Given the description of an element on the screen output the (x, y) to click on. 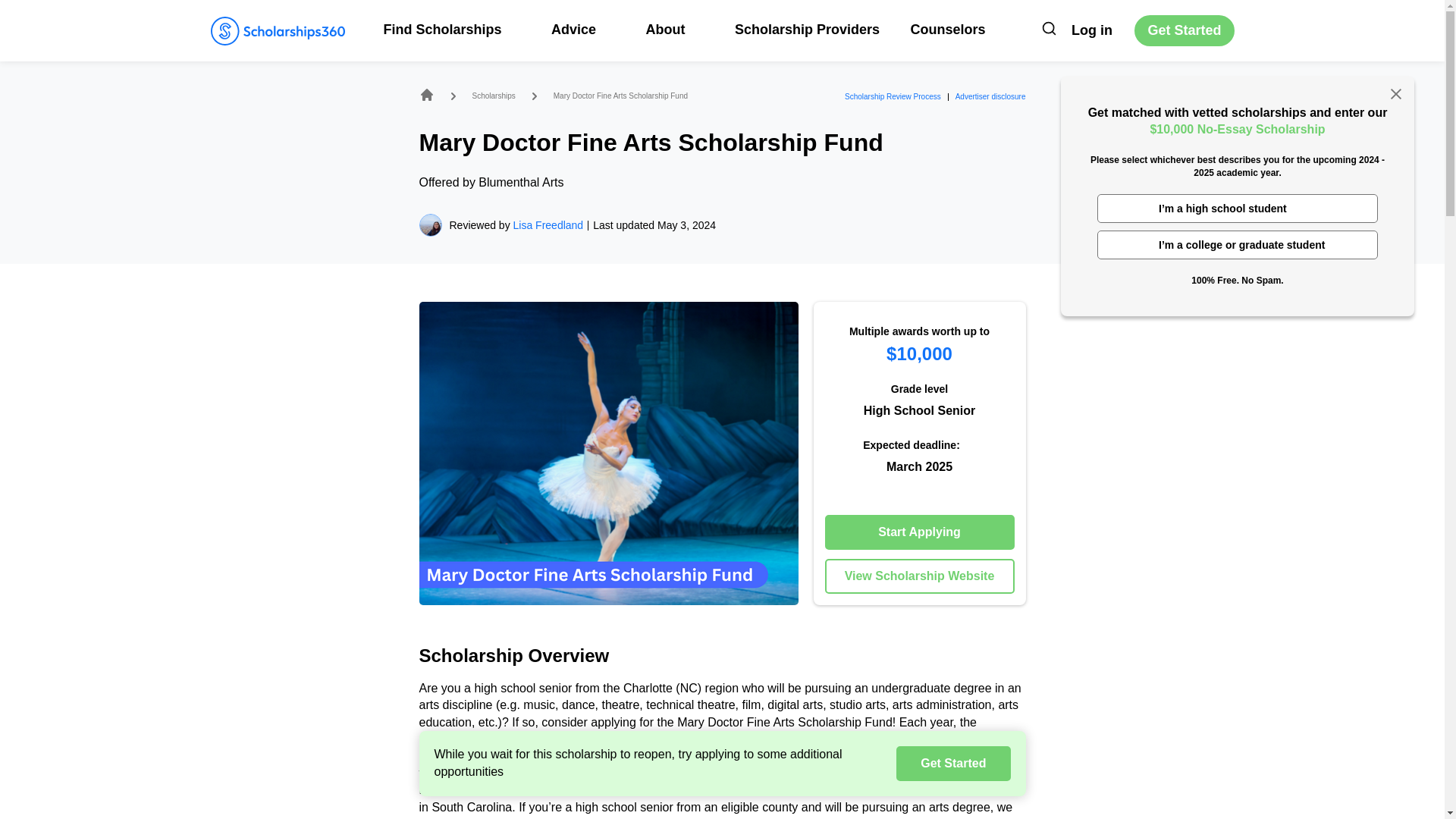
Counselors (947, 29)
Find Scholarships (452, 29)
Log in (1091, 30)
Scholarship Providers (807, 29)
Get Started (1183, 30)
Advice (582, 29)
About (674, 29)
